Given the description of an element on the screen output the (x, y) to click on. 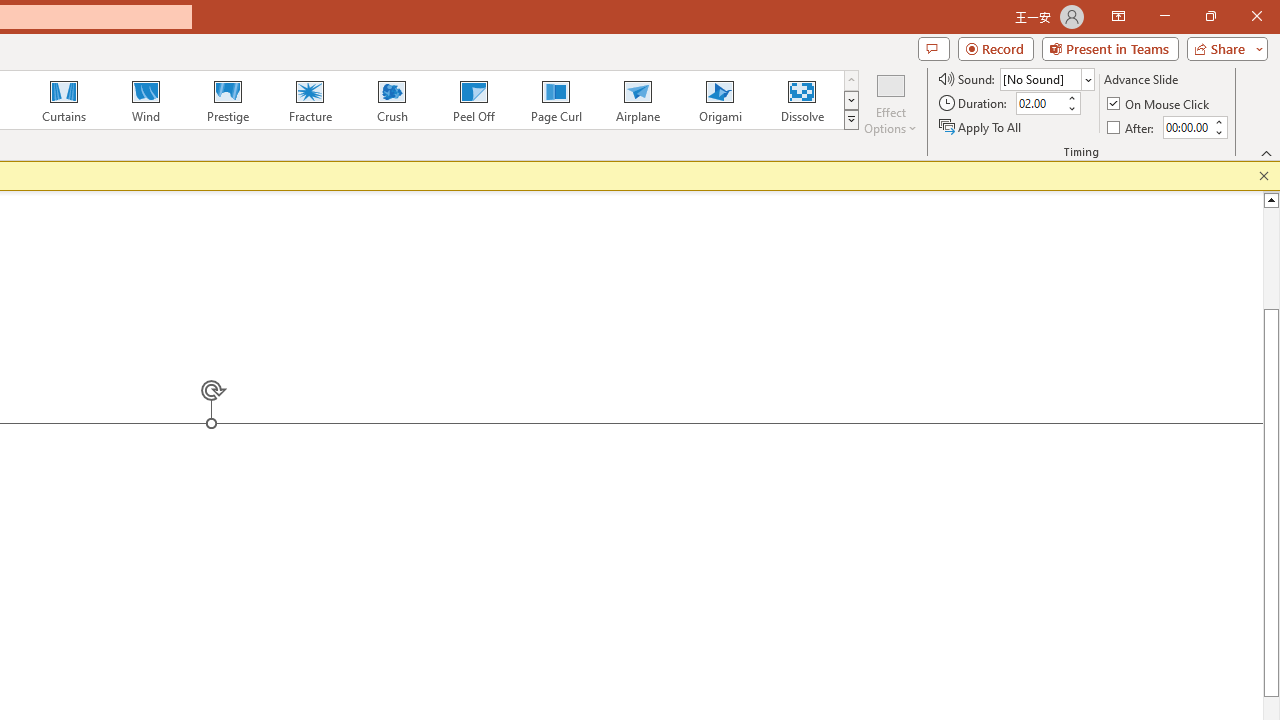
Dissolve (802, 100)
Wind (145, 100)
After (1131, 126)
Peel Off (473, 100)
Crush (391, 100)
After (1186, 127)
Close this message (1263, 176)
On Mouse Click (1159, 103)
